Given the description of an element on the screen output the (x, y) to click on. 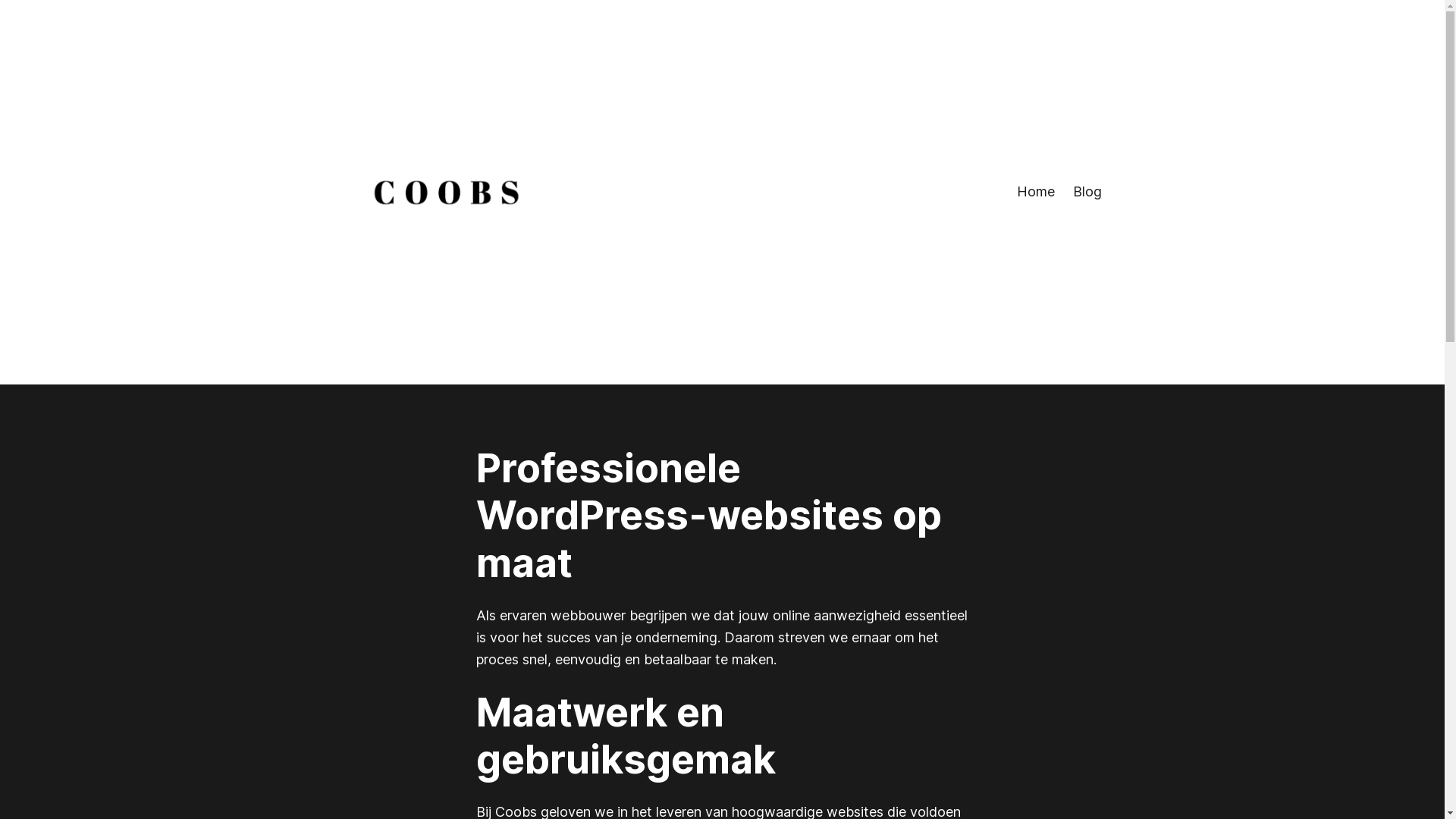
Blog Element type: text (1086, 192)
Home Element type: text (1035, 192)
